Given the description of an element on the screen output the (x, y) to click on. 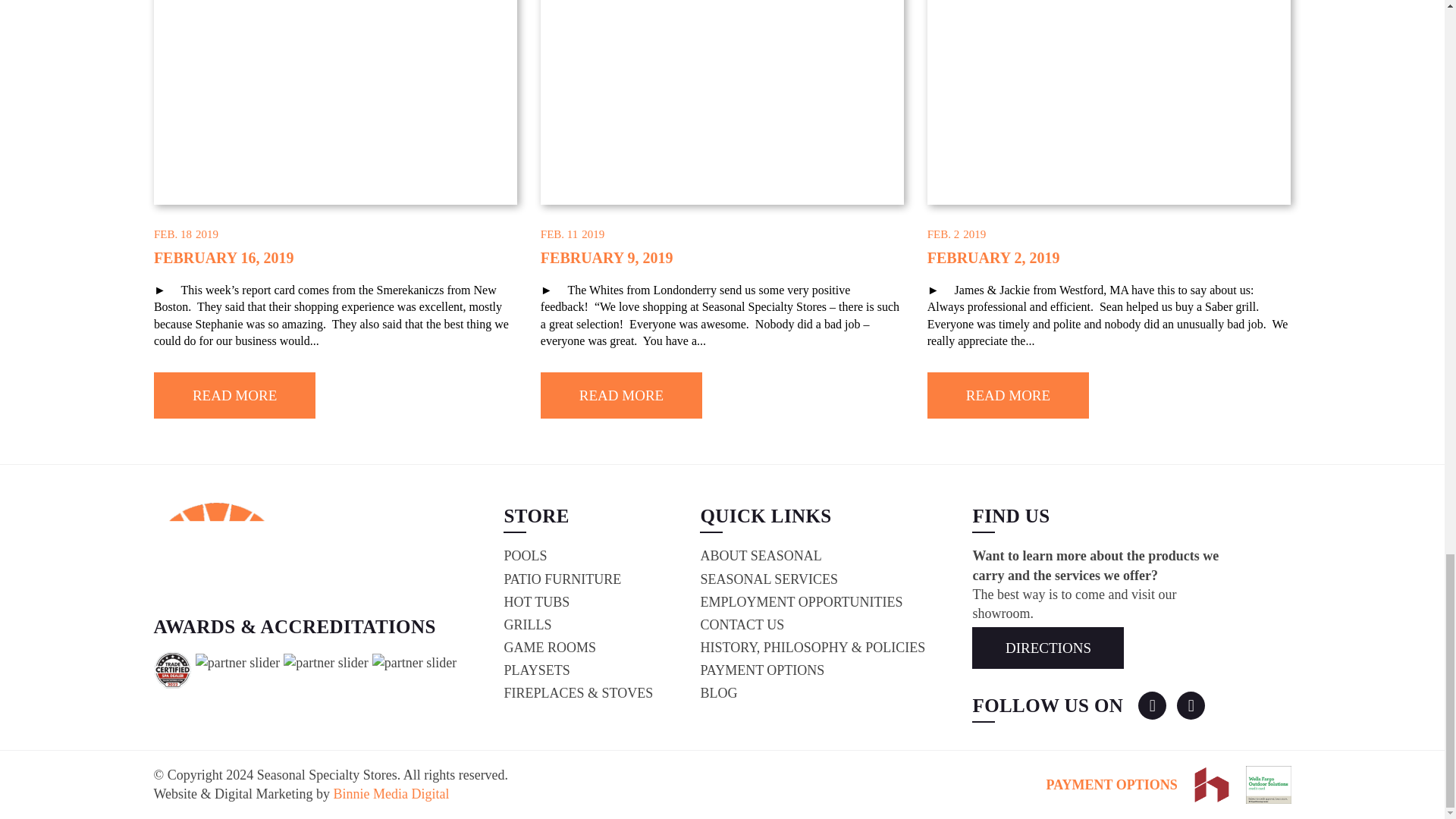
FEBRUARY 16, 2019 (224, 257)
READ MORE (1008, 395)
FEBRUARY 9, 2019 (606, 257)
READ MORE (234, 395)
FEBRUARY 2, 2019 (993, 257)
READ MORE (620, 395)
